Given the description of an element on the screen output the (x, y) to click on. 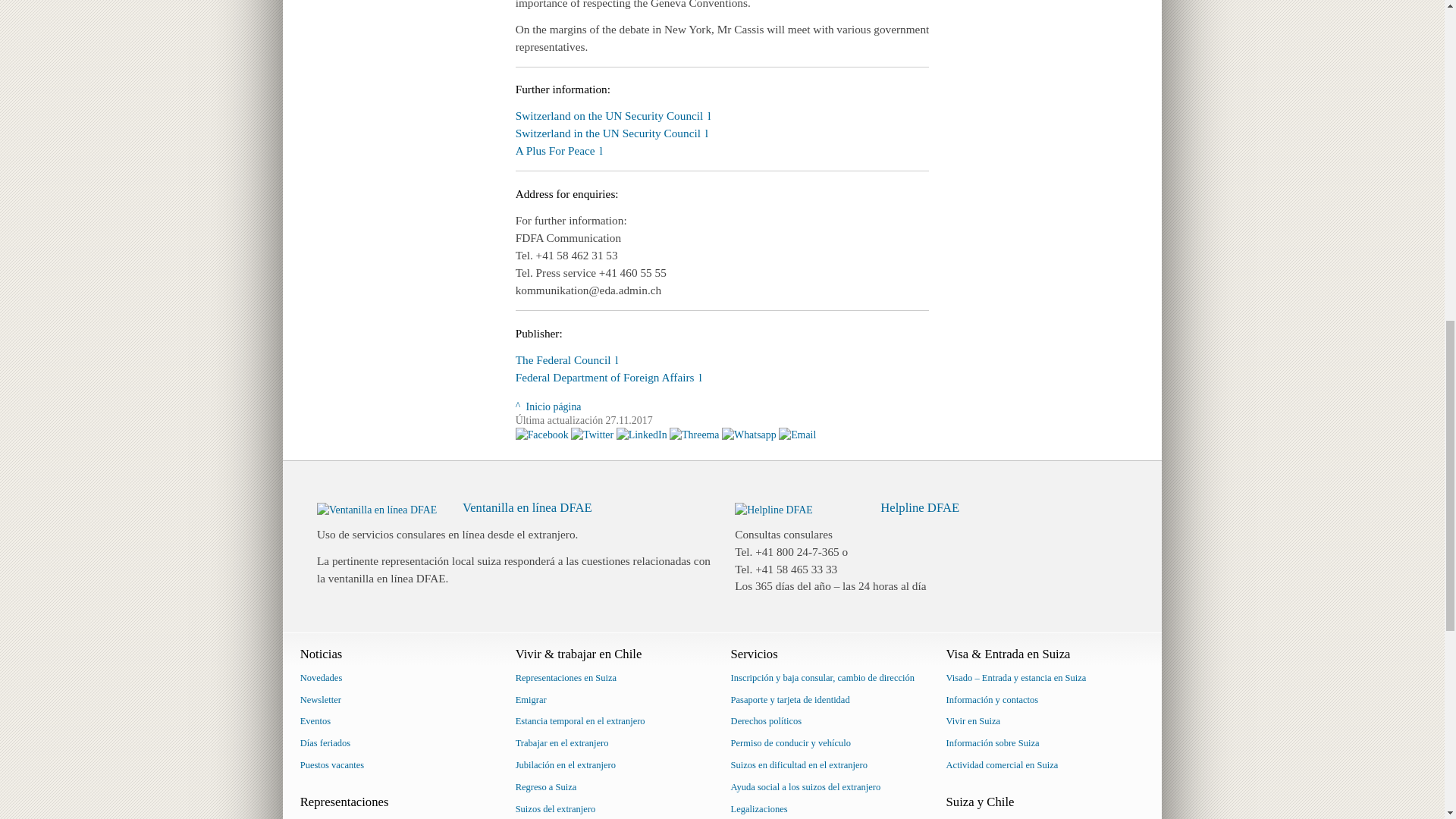
Texto oculto (566, 359)
Texto oculto (611, 132)
Texto oculto (608, 377)
Texto oculto (558, 150)
Texto oculto (613, 115)
